Given the description of an element on the screen output the (x, y) to click on. 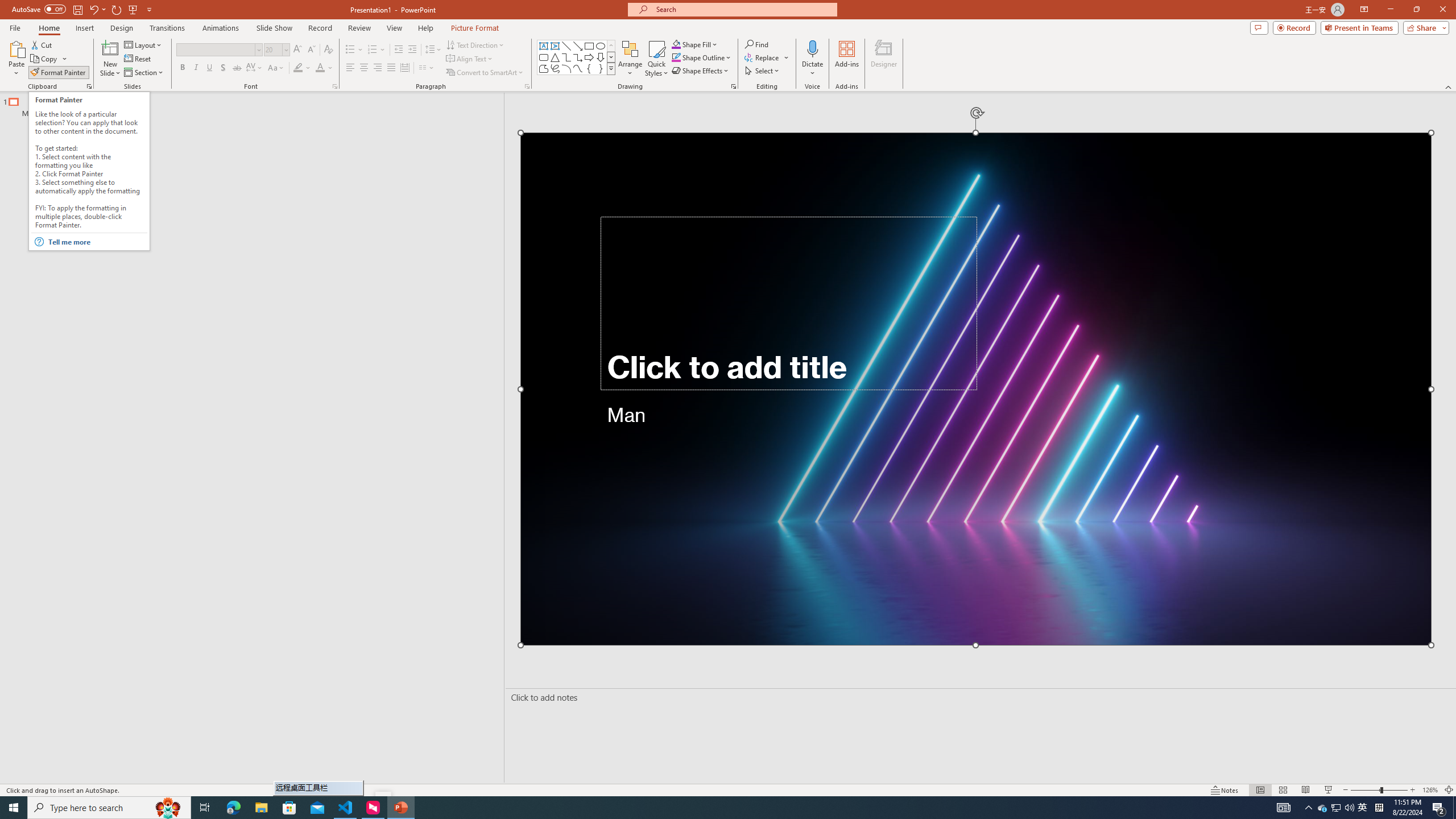
Left Brace (589, 68)
Line Arrow (577, 45)
Curve (577, 68)
Font... (334, 85)
Connector: Elbow Arrow (577, 57)
Arrow: Down (600, 57)
Center (363, 67)
